Given the description of an element on the screen output the (x, y) to click on. 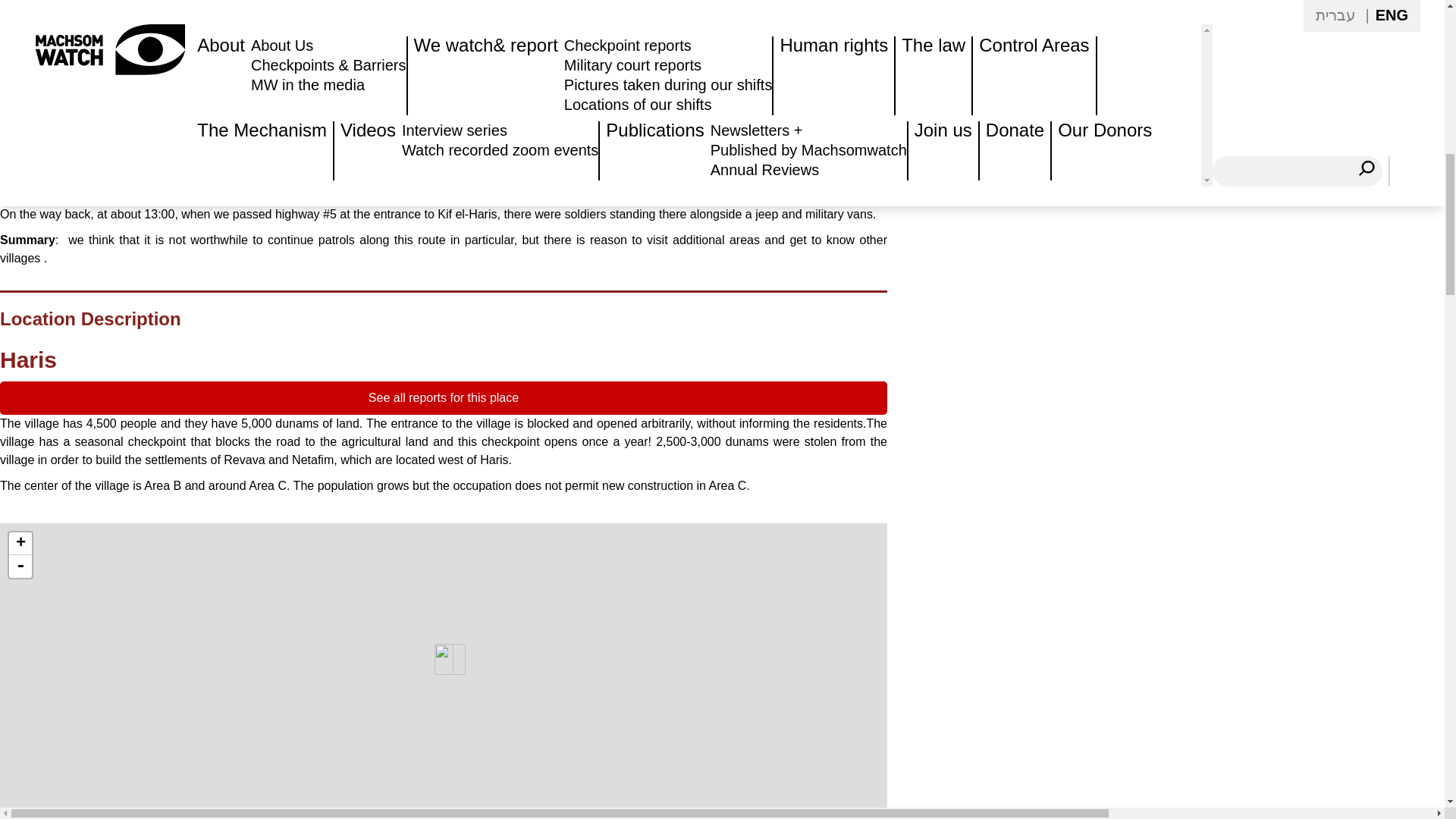
Zoom in (20, 543)
